Given the description of an element on the screen output the (x, y) to click on. 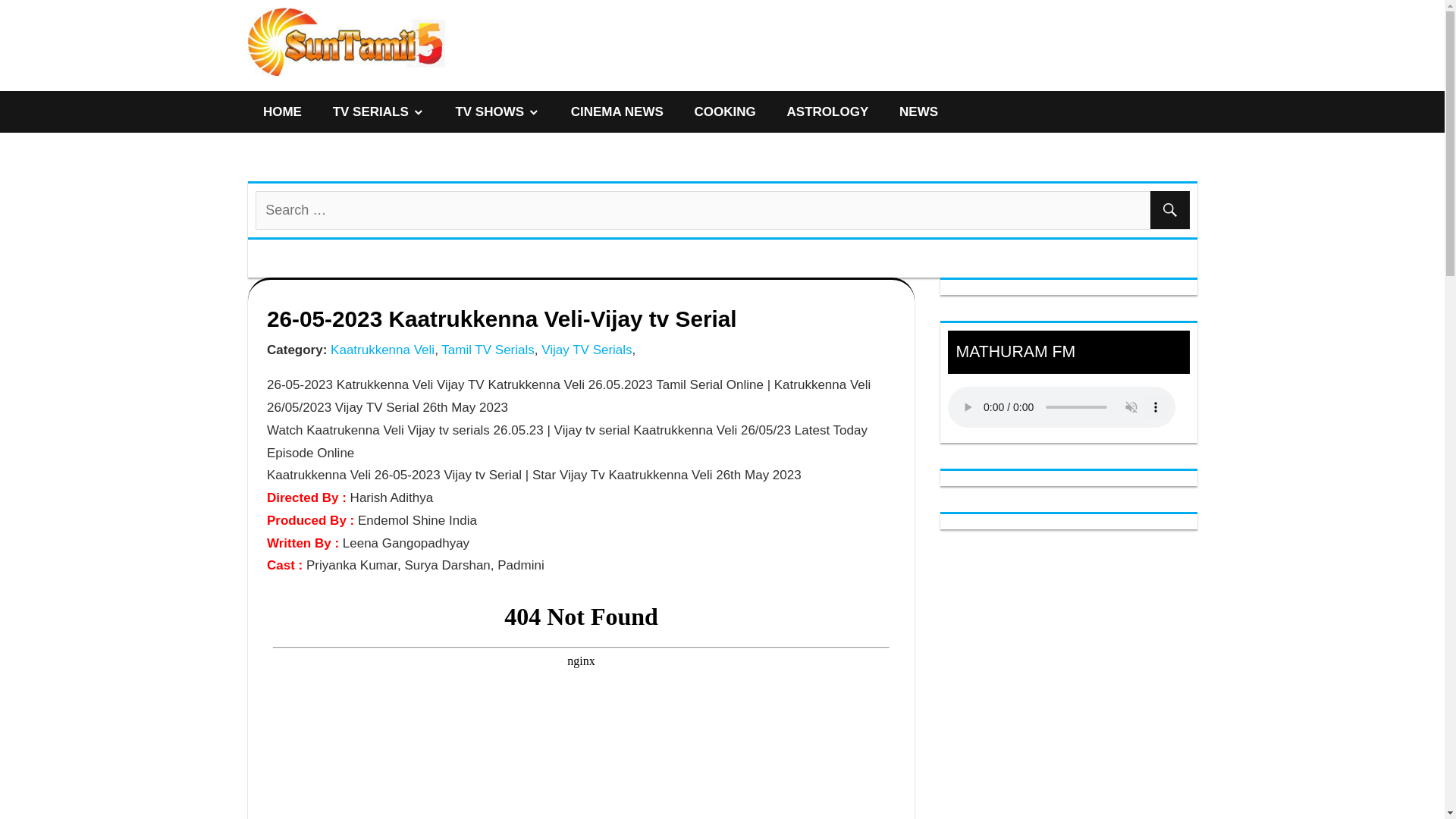
TV SHOWS (496, 111)
HOME (282, 111)
CINEMA NEWS (616, 111)
Vijay TV Serials (584, 350)
Kaatrukkenna Veli (379, 350)
NEWS (918, 111)
Tamil TV Serials (486, 350)
COOKING (724, 111)
TV SERIALS (378, 111)
ASTROLOGY (827, 111)
